Given the description of an element on the screen output the (x, y) to click on. 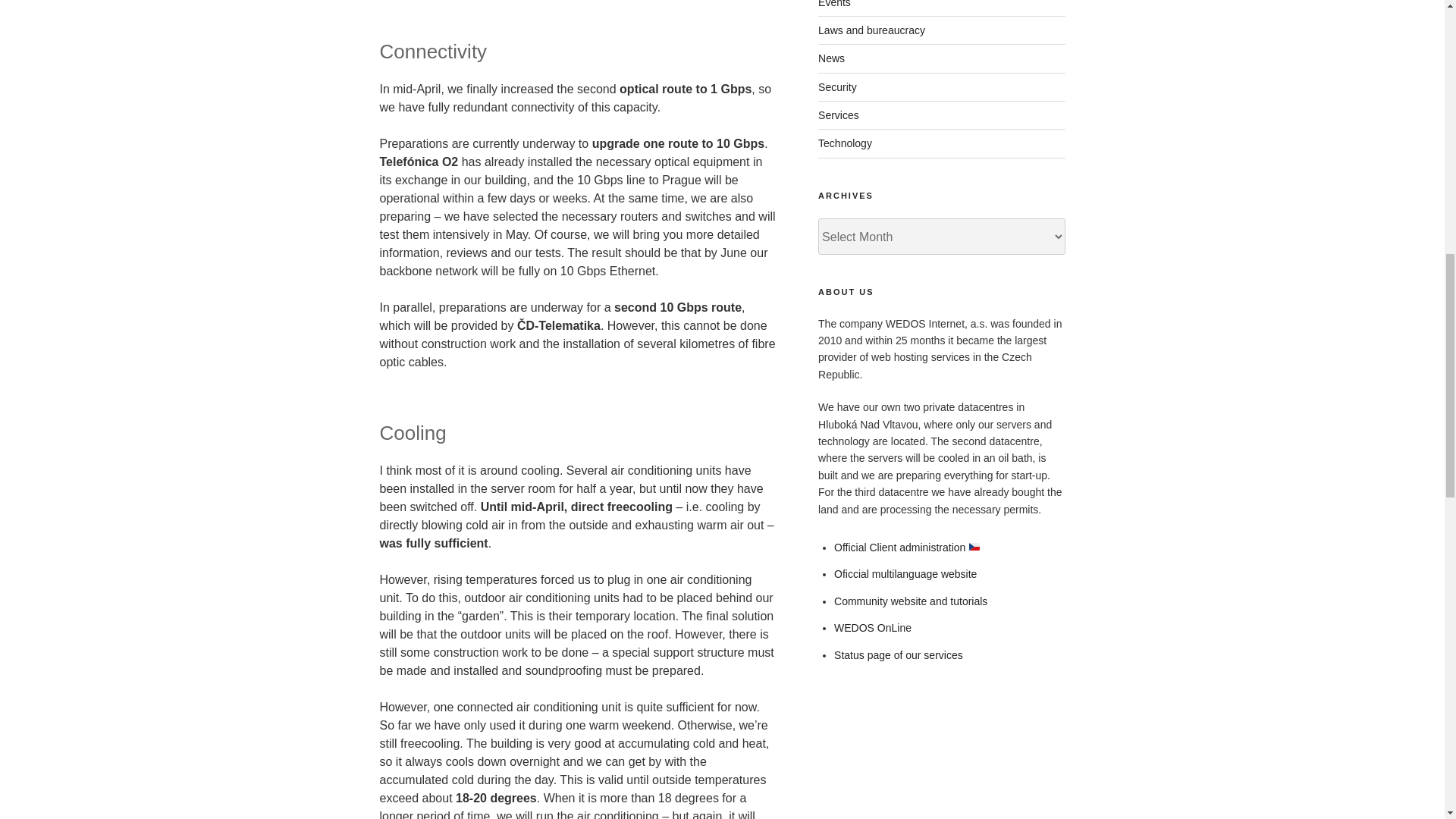
Laws and bureaucracy (871, 30)
Events (834, 4)
News (831, 58)
